Given the description of an element on the screen output the (x, y) to click on. 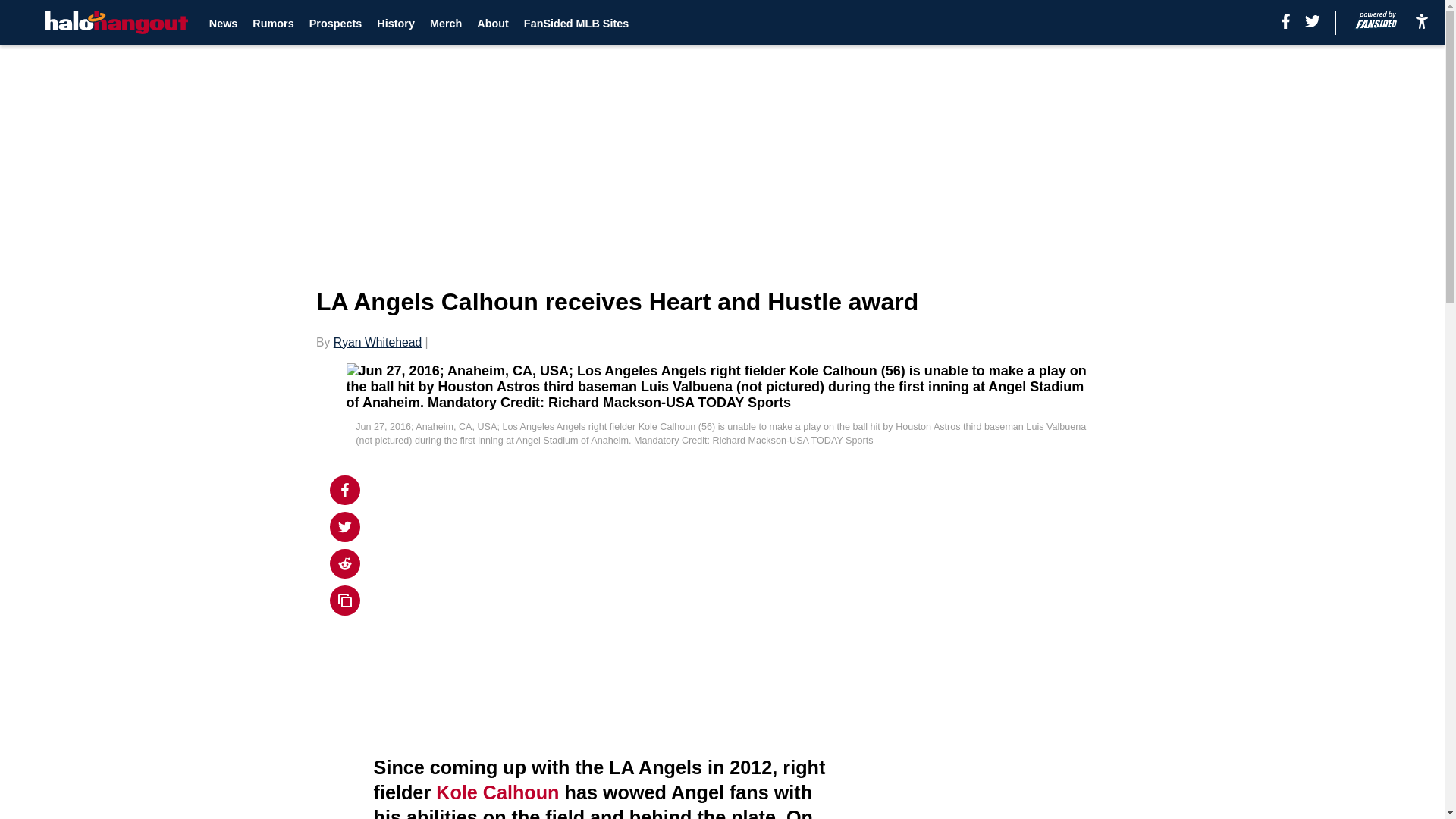
Prospects (335, 23)
FanSided MLB Sites (576, 23)
History (395, 23)
Merch (445, 23)
Rumors (272, 23)
Kole Calhoun (497, 792)
About (492, 23)
Ryan Whitehead (377, 341)
News (223, 23)
